Given the description of an element on the screen output the (x, y) to click on. 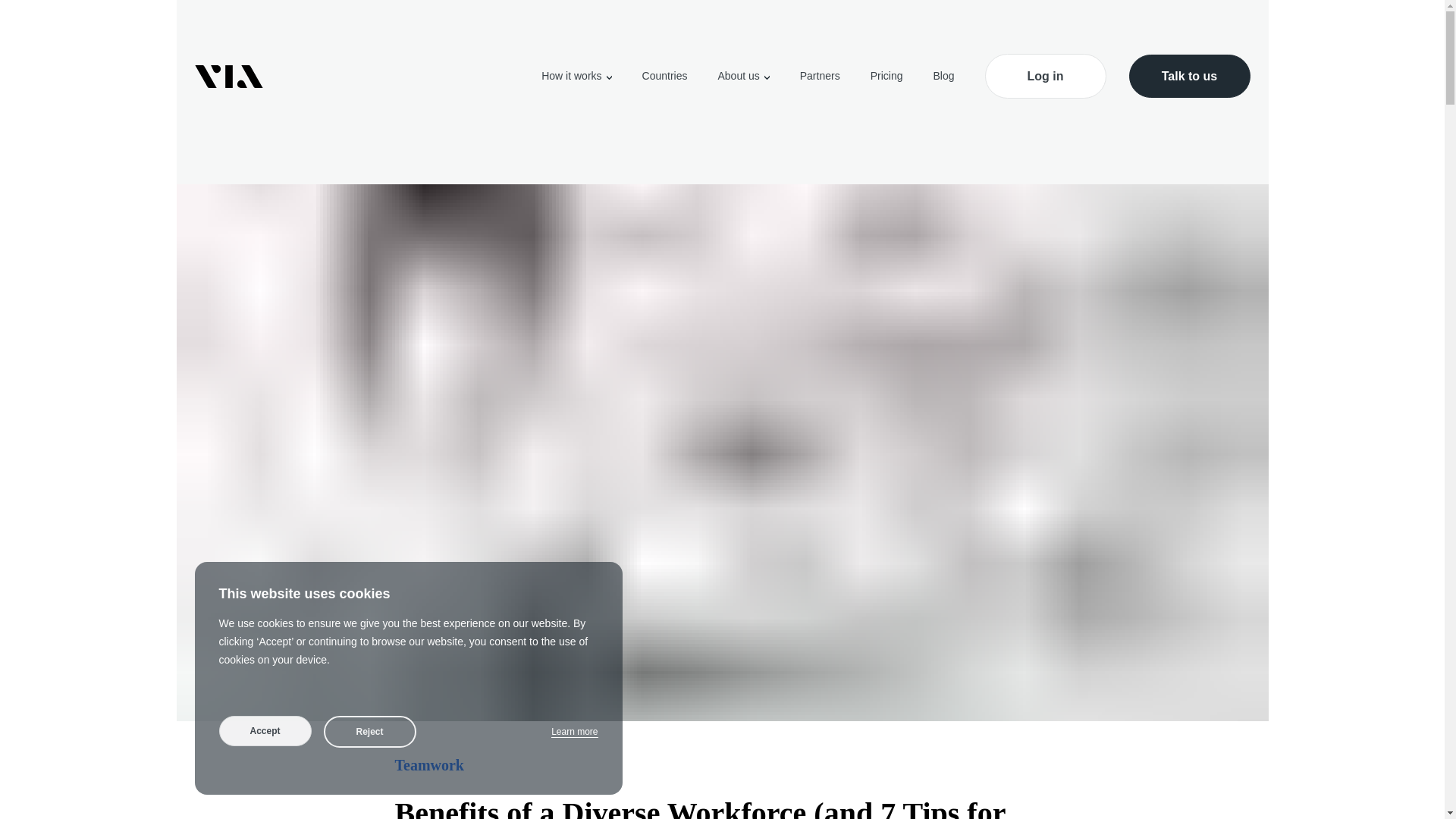
Pricing (886, 75)
Talk to us (1188, 75)
Log in (1044, 76)
Partners (819, 75)
Accept (264, 730)
Countries (664, 75)
Blog (943, 75)
Reject (368, 731)
Learn more (573, 731)
